Given the description of an element on the screen output the (x, y) to click on. 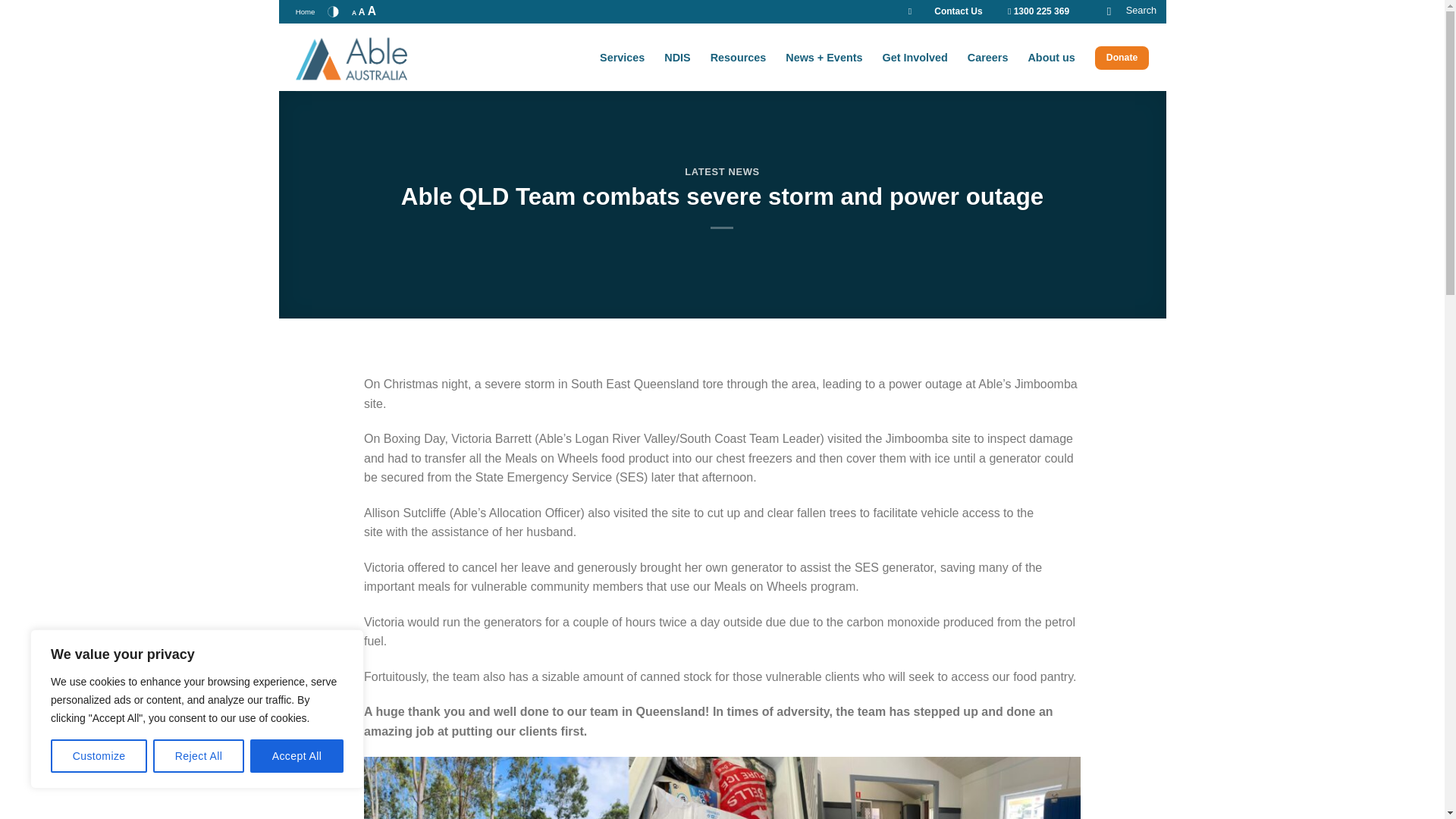
Overview (738, 57)
Accept All (296, 756)
Reject All (198, 756)
Home (305, 11)
Able Australia - Together we are able (370, 57)
Customize (98, 756)
